Given the description of an element on the screen output the (x, y) to click on. 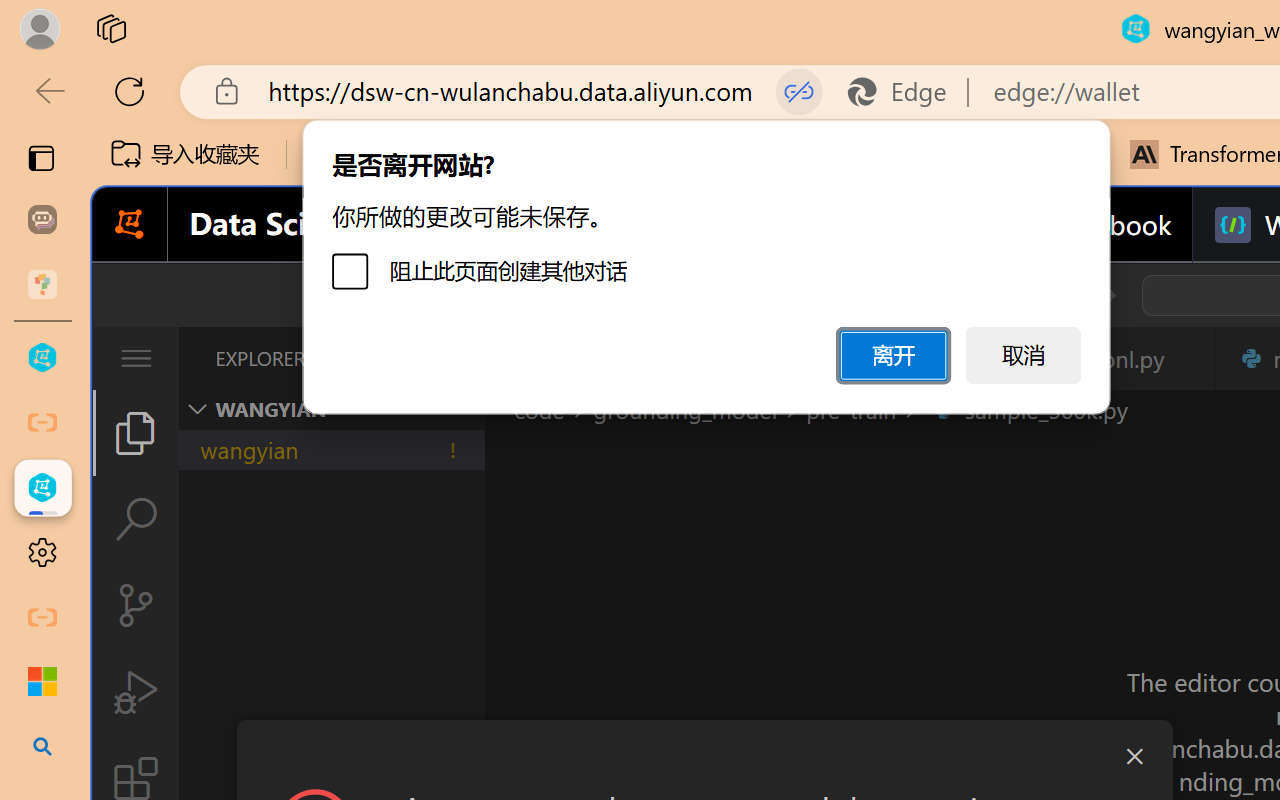
Close Dialog (1133, 756)
Source Control (Ctrl+Shift+G) (135, 604)
Class: menubar compact overflow-menu-only (135, 358)
